Given the description of an element on the screen output the (x, y) to click on. 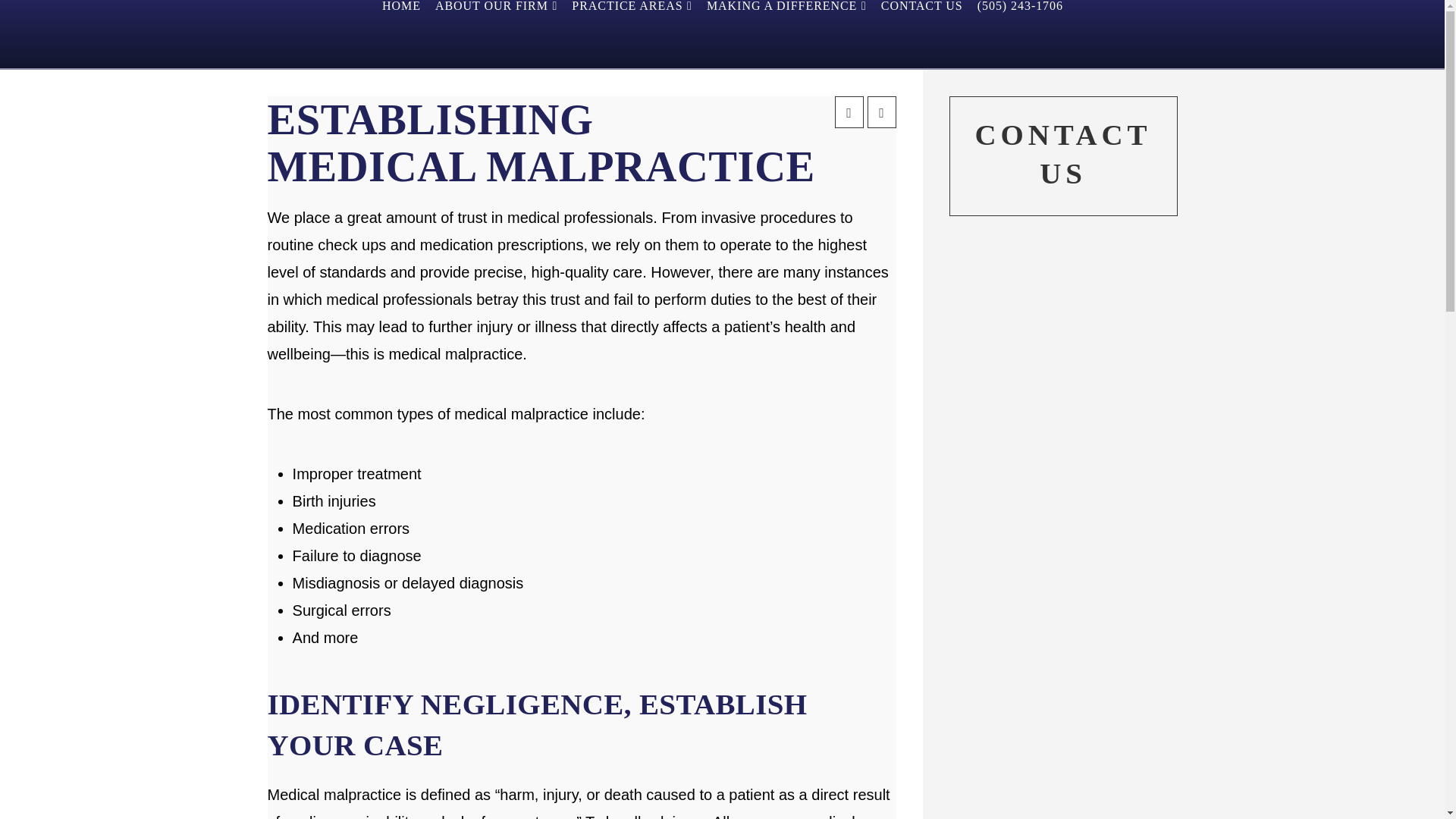
CONTACT US (921, 33)
ABOUT OUR FIRM (496, 33)
PRACTICE AREAS (631, 33)
MAKING A DIFFERENCE (785, 33)
